Given the description of an element on the screen output the (x, y) to click on. 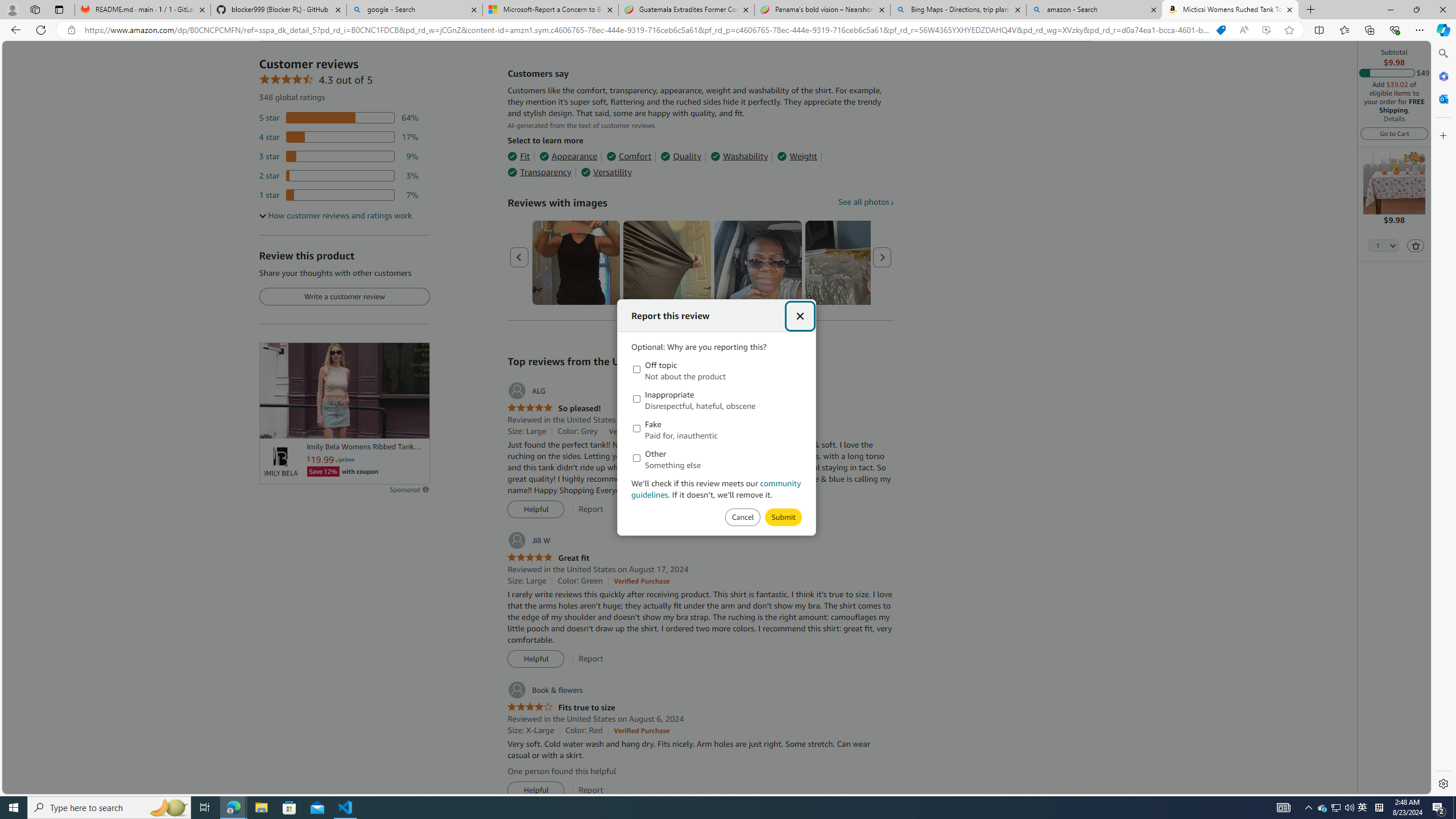
Customer Image (758, 262)
Customer Image (758, 262)
Prime (344, 459)
Mark this review for abuse BUTTON (782, 517)
